Given the description of an element on the screen output the (x, y) to click on. 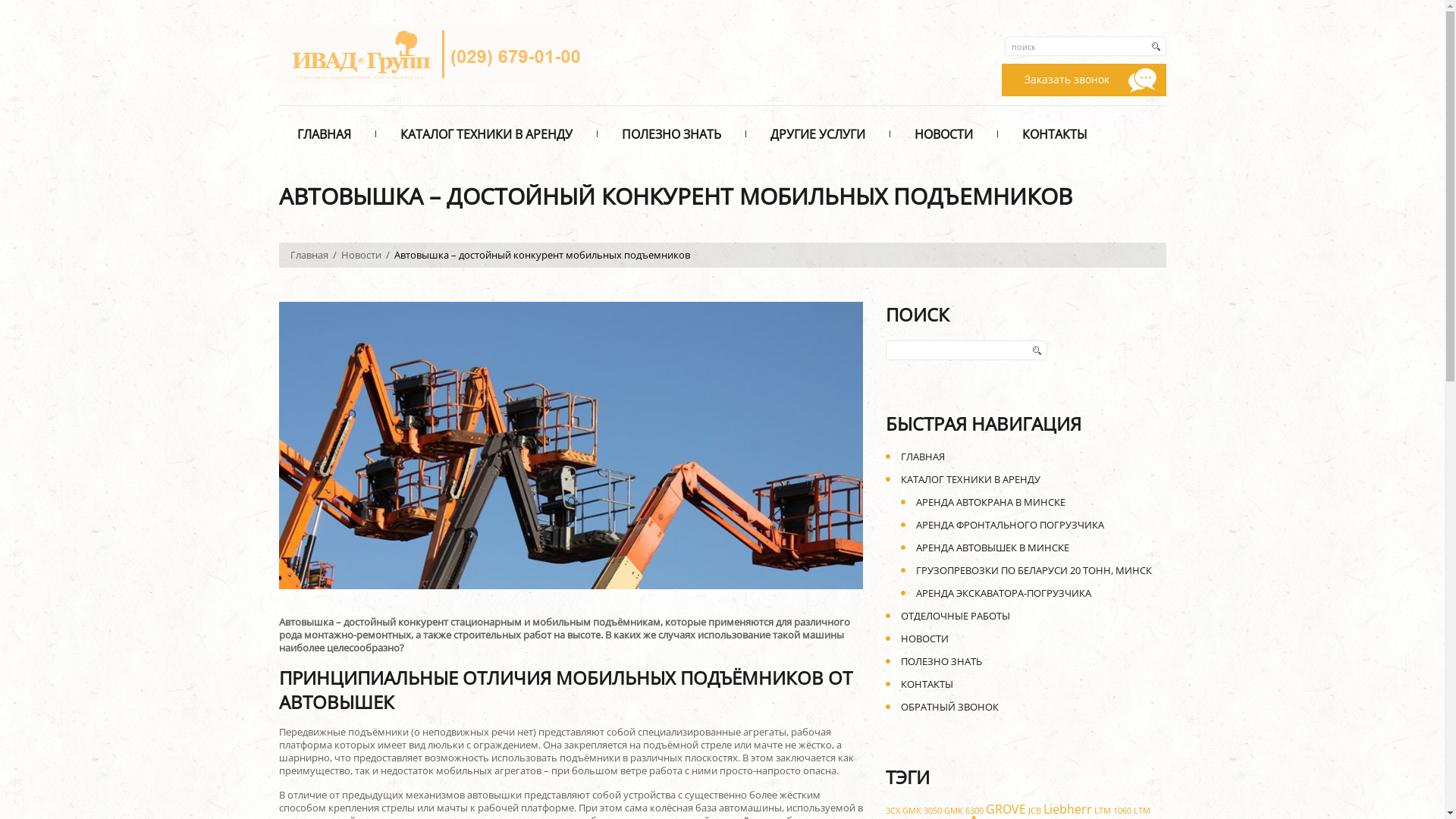
GROVE Element type: text (1005, 808)
Liebherr Element type: text (1067, 808)
GMK 3050 Element type: text (921, 810)
JCB Element type: text (1034, 810)
GMK 6300 Element type: text (962, 810)
LTM 1060 Element type: text (1111, 810)
3CX Element type: text (892, 810)
